Given the description of an element on the screen output the (x, y) to click on. 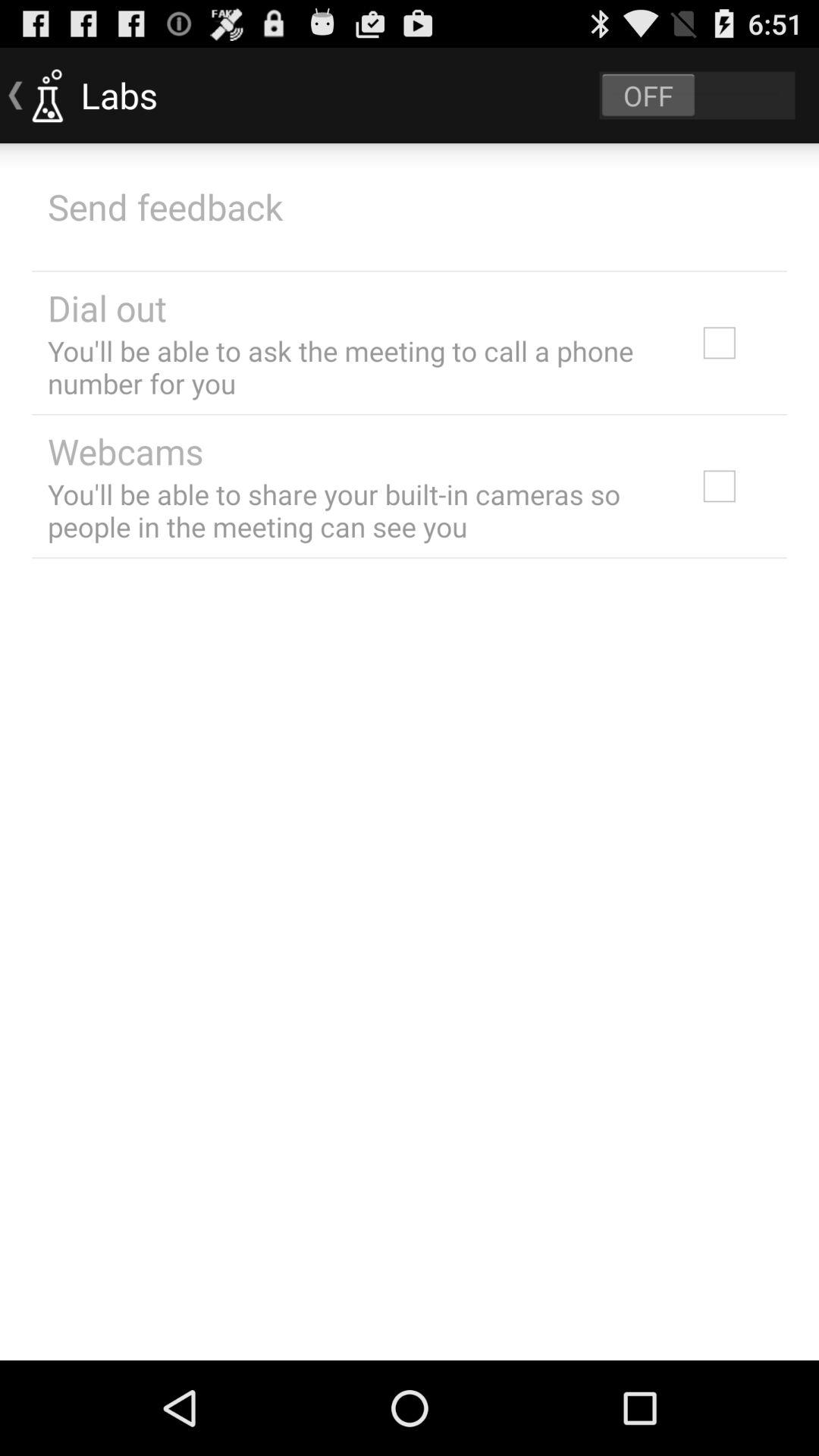
turn on or off the lab option (697, 95)
